Given the description of an element on the screen output the (x, y) to click on. 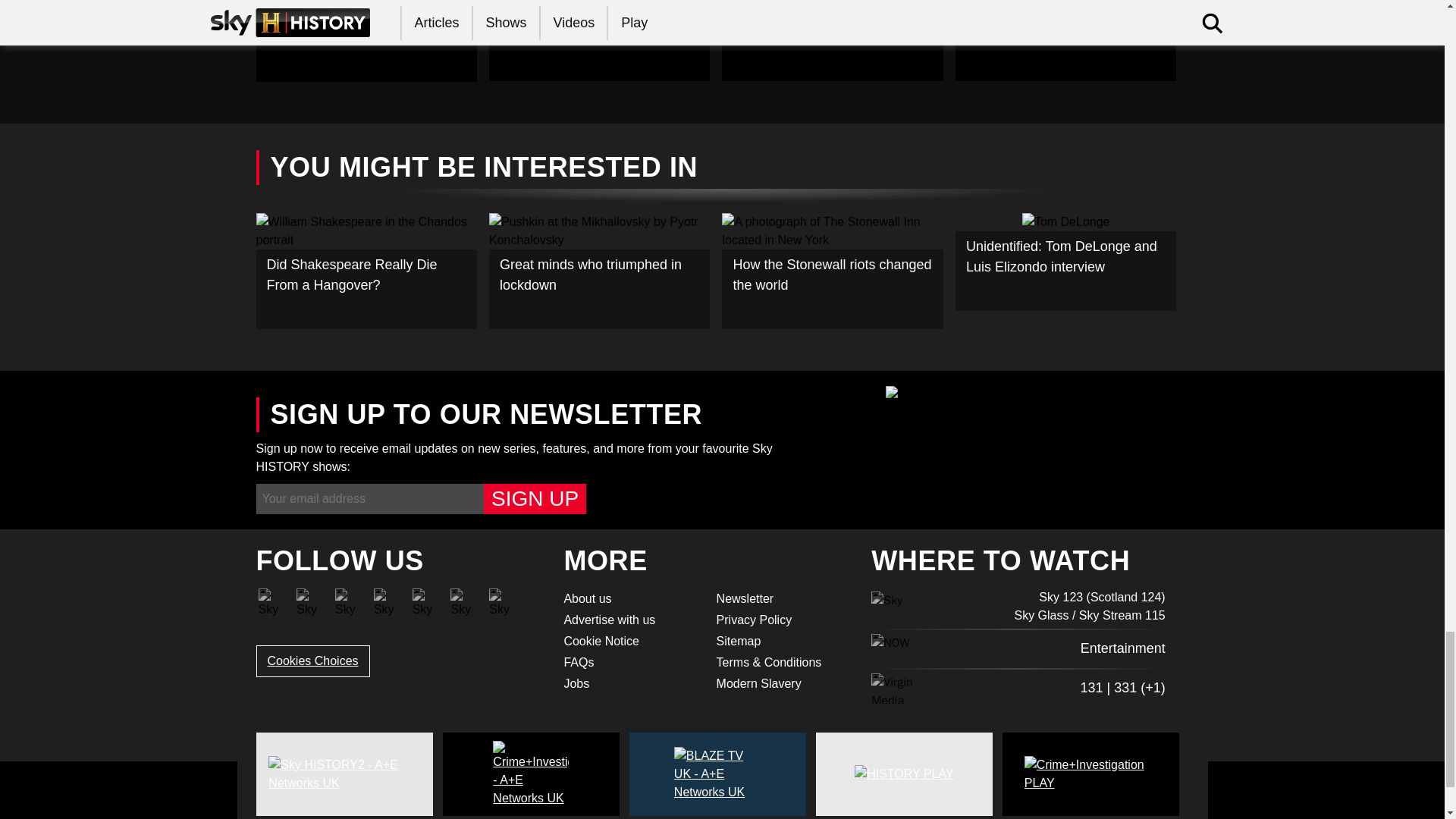
Sitemap of the site (783, 641)
Advertise with us (630, 619)
Roald Dahl's secret life as a WW2 spy (366, 40)
Storage Wars: Barry's Best Buys (599, 40)
How the Stonewall riots changed the world (832, 270)
Storage Wars: Miami Series 1 (832, 40)
About us (630, 598)
Sign Up (534, 499)
Did Shakespeare Really Die From a Hangover? (366, 270)
Storage Wars: Texas Series 6 (1065, 40)
Sign Up (534, 499)
Unidentified: Tom DeLonge and Luis Elizondo interview (1065, 262)
HISTORY Newsletter (783, 598)
Great minds who triumphed in lockdown (599, 270)
Cookies Choices (312, 661)
